Given the description of an element on the screen output the (x, y) to click on. 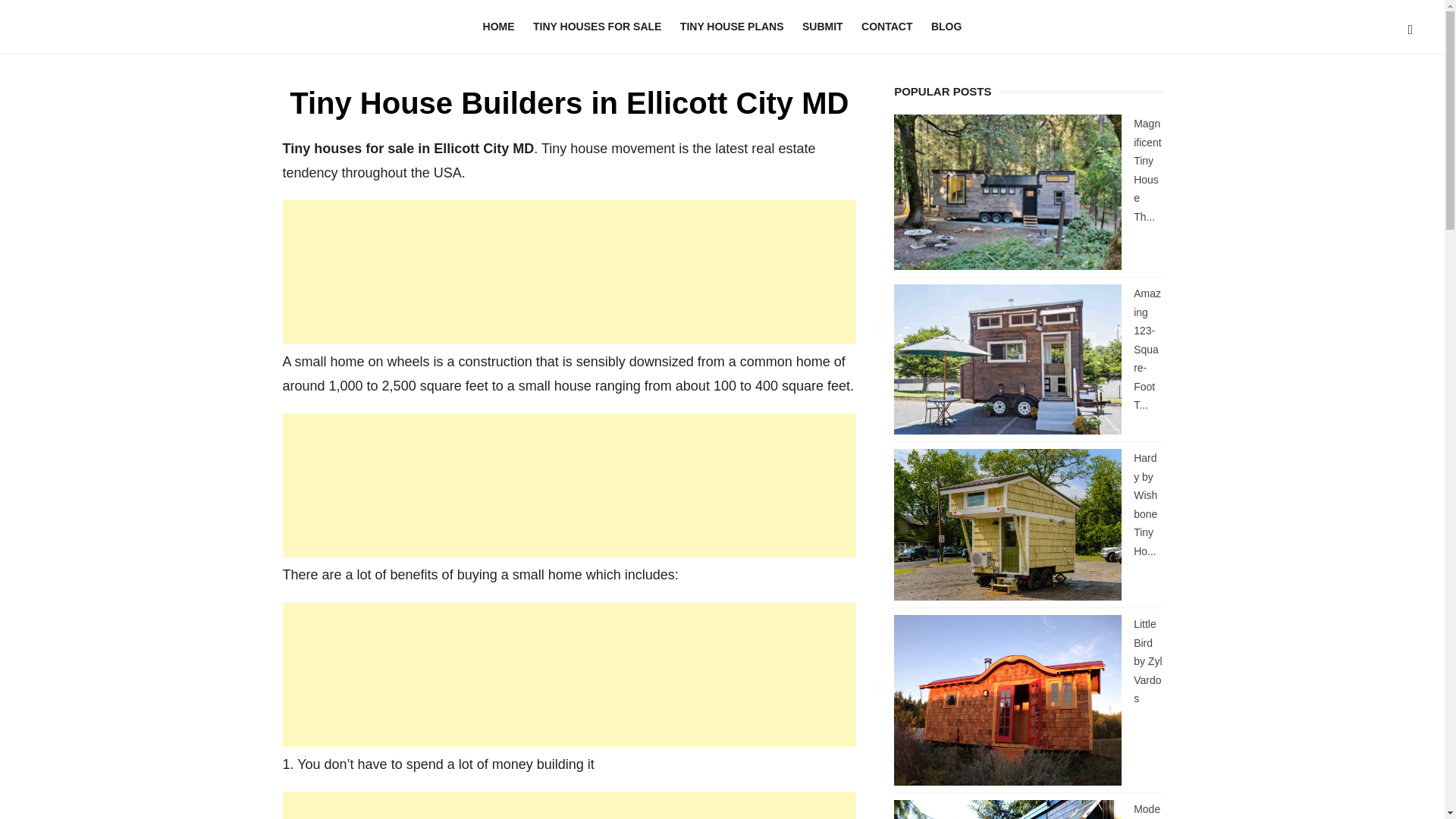
BLOG (946, 26)
Advertisement (569, 673)
HOME (499, 26)
TINY HOUSE PLANS (732, 26)
Modern by Tiny Heirloom (1147, 811)
SUBMIT (822, 26)
Advertisement (569, 805)
Advertisement (569, 485)
Advertisement (569, 271)
CONTACT (886, 26)
